Given the description of an element on the screen output the (x, y) to click on. 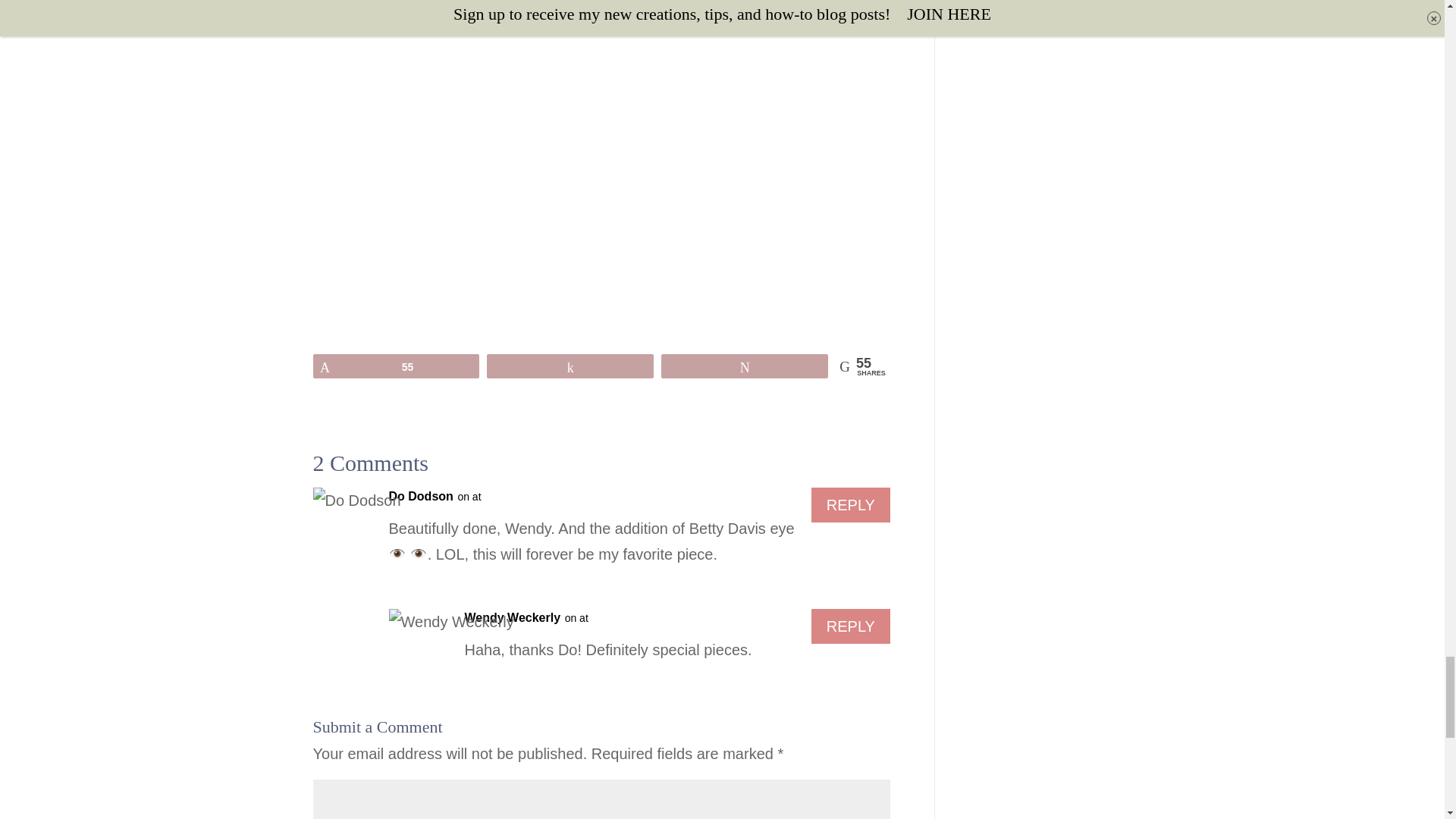
Do Dodson (420, 496)
Wendy Weckerly (512, 617)
REPLY (849, 626)
55 (396, 365)
REPLY (849, 504)
